Given the description of an element on the screen output the (x, y) to click on. 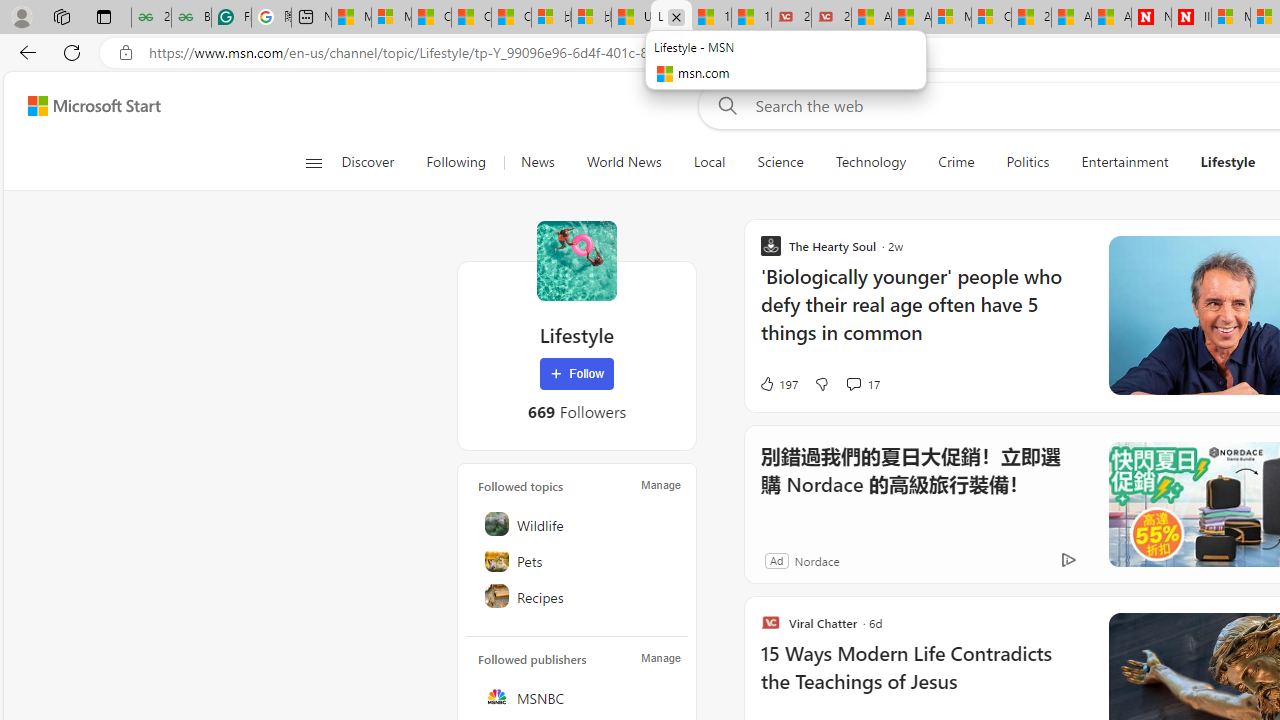
Workspaces (61, 16)
Personal Profile (21, 16)
Science (779, 162)
Open navigation menu (313, 162)
Wildlife (578, 524)
Dislike (821, 384)
Microsoft Start (351, 17)
20 Ways to Boost Your Protein Intake at Every Meal (1031, 17)
Best SSL Certificates Provider in India - GeeksforGeeks (191, 17)
New tab (311, 17)
Crime (955, 162)
Politics (1027, 162)
